Given the description of an element on the screen output the (x, y) to click on. 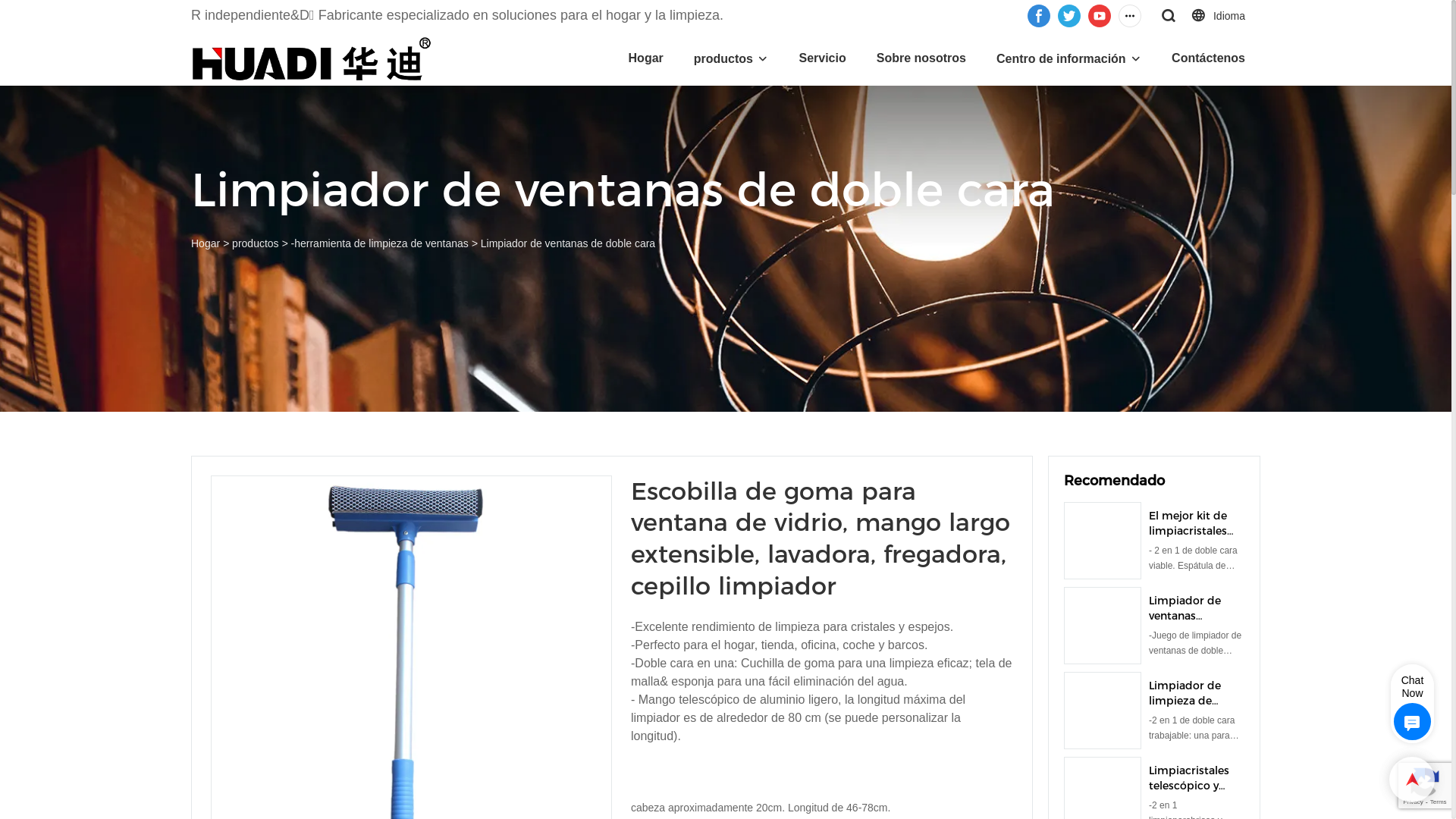
-herramienta de limpieza de ventanas Element type: text (379, 243)
Hogar Element type: text (645, 57)
twitter Element type: hover (1069, 15)
youtube Element type: hover (1099, 15)
Hogar Element type: text (205, 243)
Sobre nosotros Element type: text (921, 57)
facebook Element type: hover (1038, 15)
productos Element type: text (723, 58)
Limpiador de ventanas de doble cara Element type: text (567, 243)
productos Element type: text (255, 243)
Servicio Element type: text (821, 57)
